Given the description of an element on the screen output the (x, y) to click on. 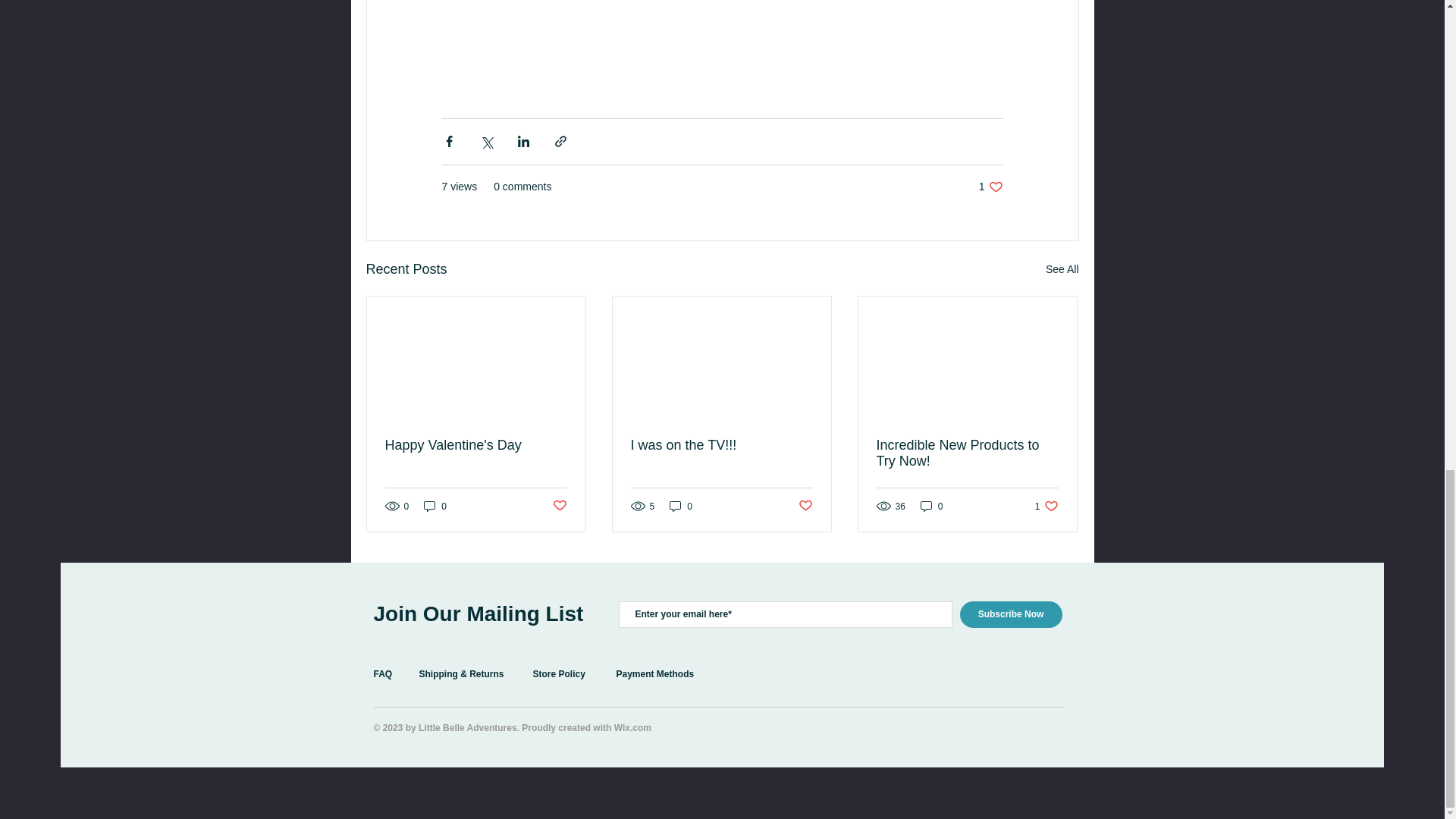
Store Policy (558, 674)
Post not marked as liked (804, 505)
See All (1061, 269)
FAQ (381, 674)
0 (435, 505)
I was on the TV!!! (1046, 505)
0 (721, 445)
Happy Valentine's Day (931, 505)
Post not marked as liked (476, 445)
0 (558, 505)
Subscribe Now (681, 505)
Incredible New Products to Try Now! (1010, 614)
Payment Methods (967, 453)
